Given the description of an element on the screen output the (x, y) to click on. 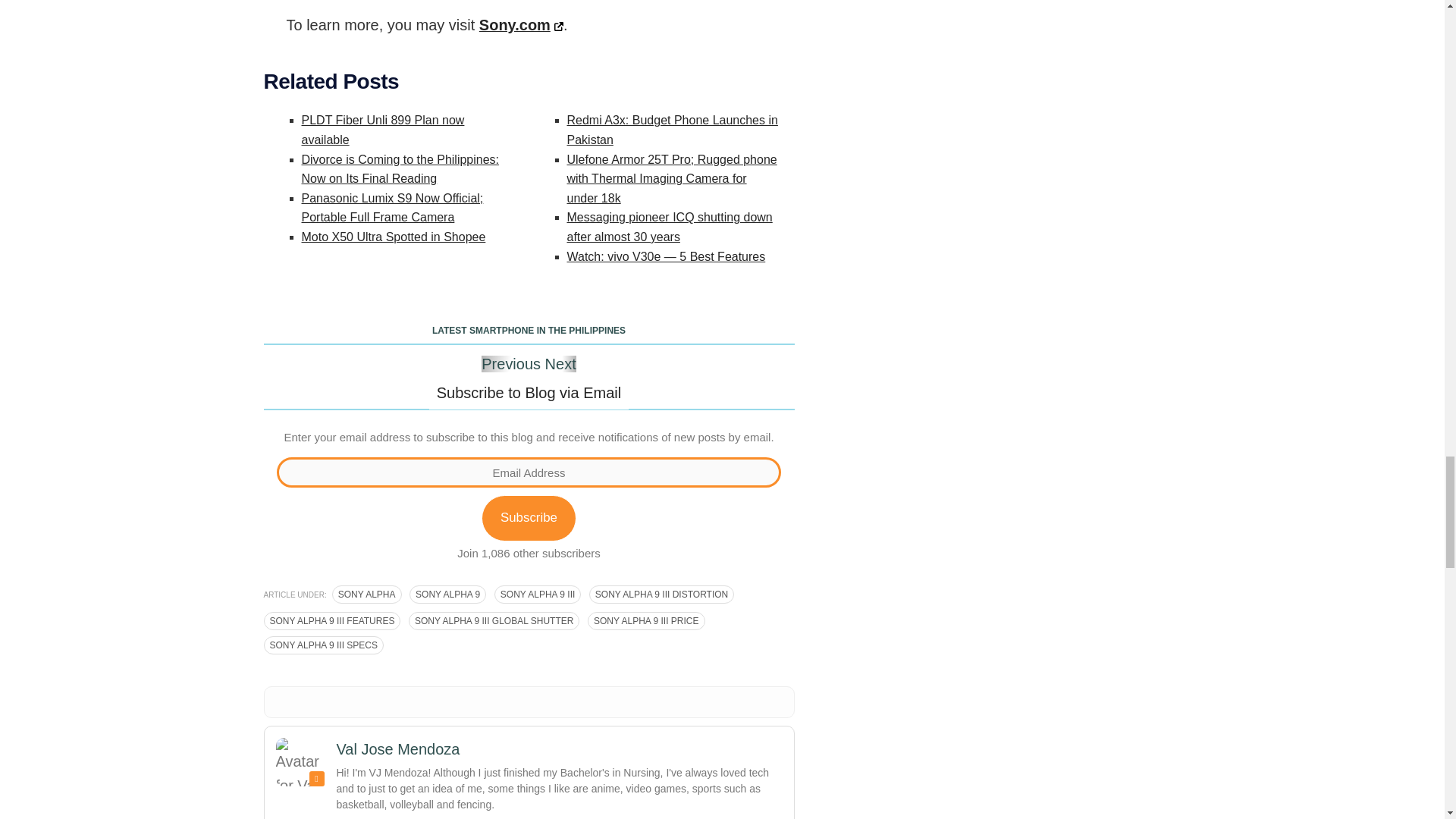
Posts by Val Jose Mendoza (398, 749)
Gravatar for Val Jose Mendoza (300, 761)
Messaging pioneer ICQ shutting down after almost 30 years (670, 226)
Redmi A3x: Budget Phone Launches in Pakistan (672, 129)
Moto X50 Ultra Spotted in Shopee (393, 236)
LATEST SMARTPHONE IN THE PHILIPPINES (528, 331)
Sony.com (521, 24)
Panasonic Lumix S9 Now Official; Portable Full Frame Camera (392, 207)
PLDT Fiber Unli 899 Plan now available (382, 129)
